Given the description of an element on the screen output the (x, y) to click on. 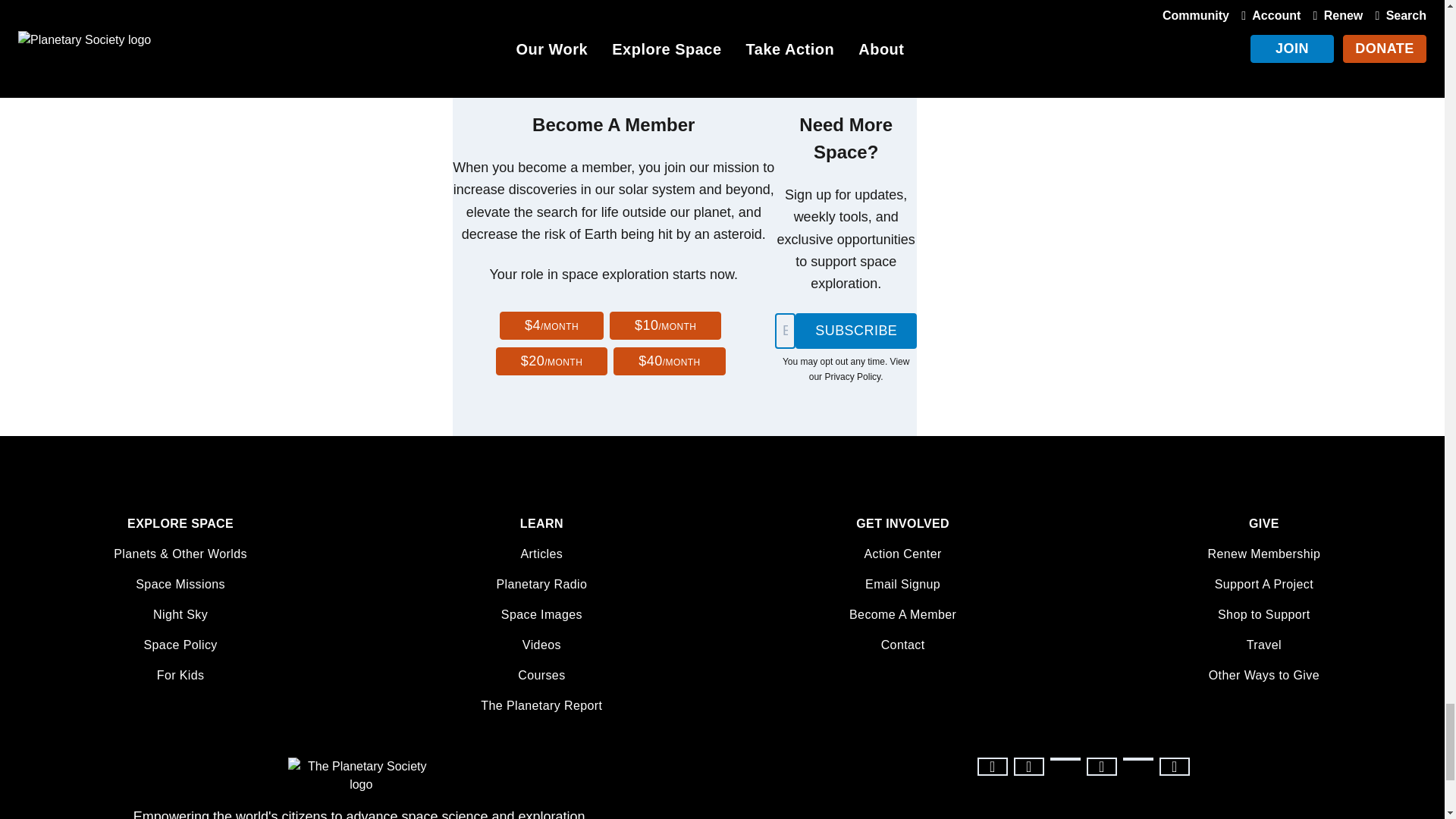
Subscribe (855, 330)
